Given the description of an element on the screen output the (x, y) to click on. 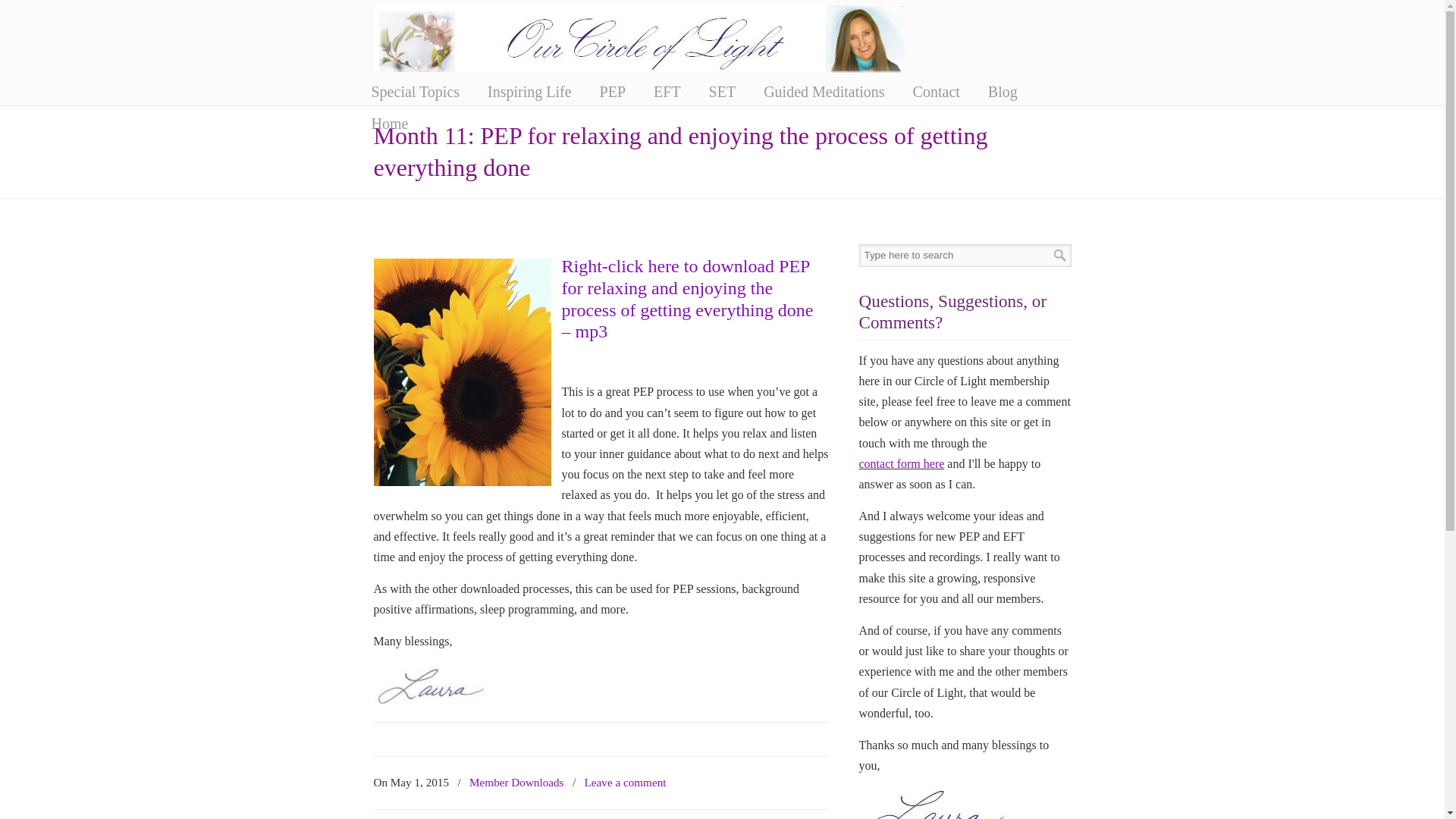
Contact (936, 91)
Our Circle of Light (638, 38)
Special Topics (416, 91)
Our Circle of Light (638, 38)
SET (722, 91)
Home (389, 123)
Guided Meditations (823, 91)
Leave a comment (625, 782)
PEP (612, 91)
Inspiring Life (528, 91)
